Given the description of an element on the screen output the (x, y) to click on. 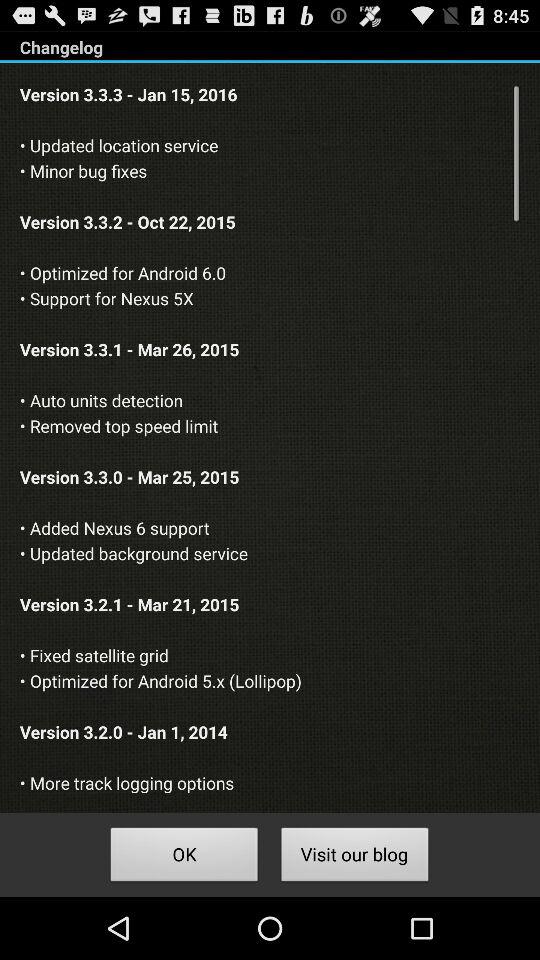
launch the button next to the visit our blog (184, 857)
